Given the description of an element on the screen output the (x, y) to click on. 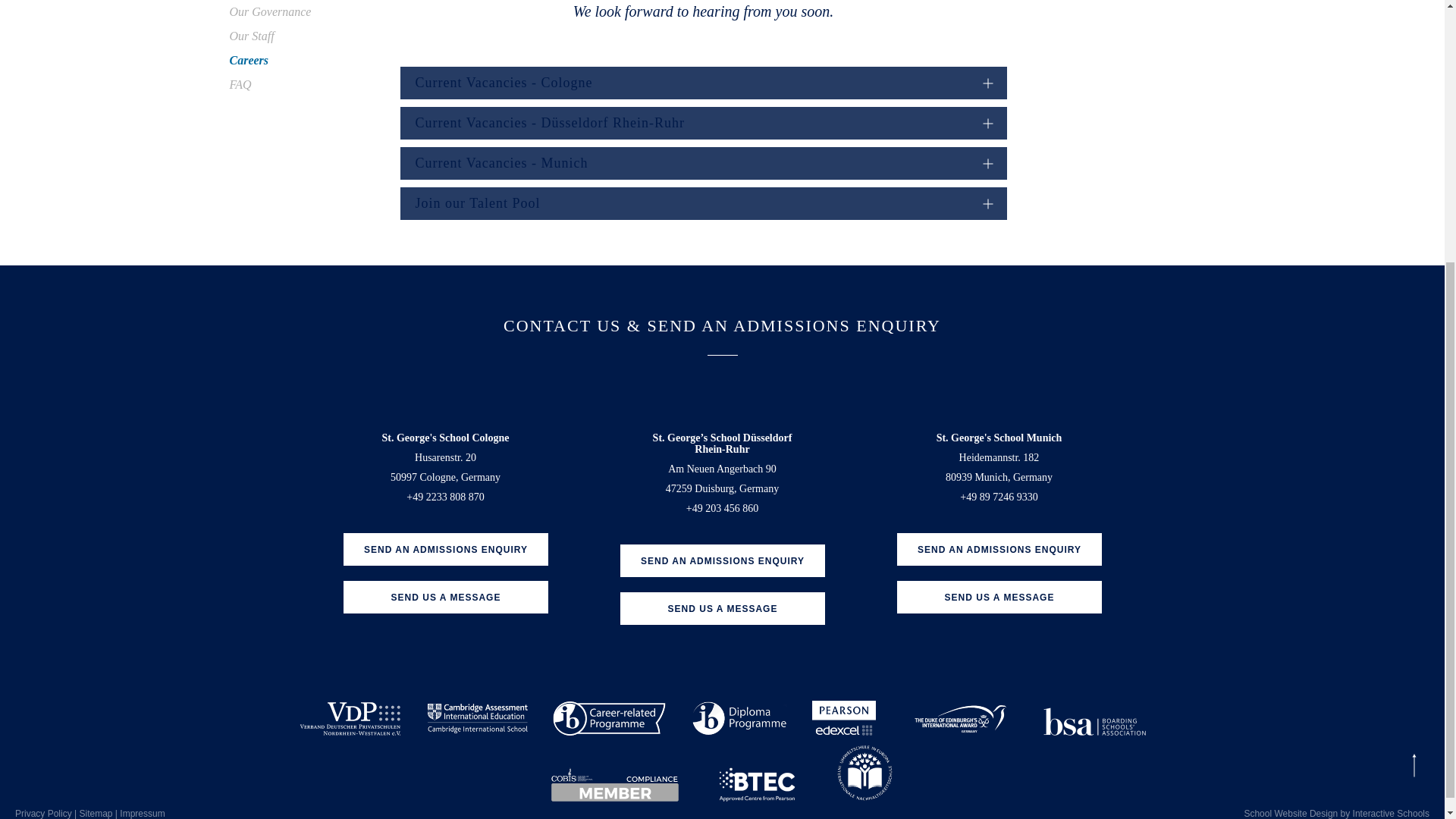
Send Us a Message (444, 596)
Send Us a Message (998, 596)
Send Us a Message (722, 608)
Send an Admissions Enquiry (722, 560)
Send an Admissions Enquiry (998, 549)
Send an Admissions Enquiry (444, 549)
